Given the description of an element on the screen output the (x, y) to click on. 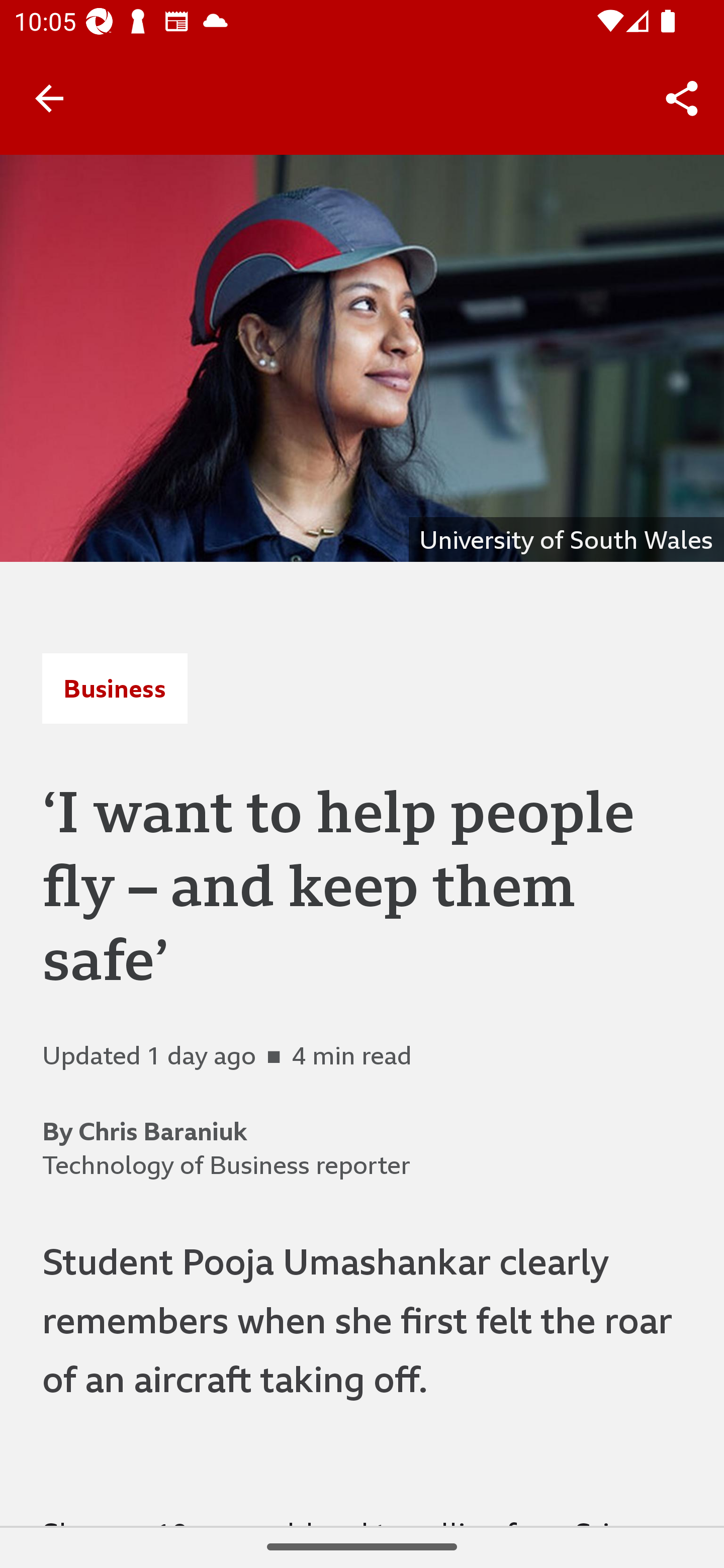
Back (49, 97)
Share (681, 98)
Pooja Umashankar (362, 358)
Business (114, 688)
